Given the description of an element on the screen output the (x, y) to click on. 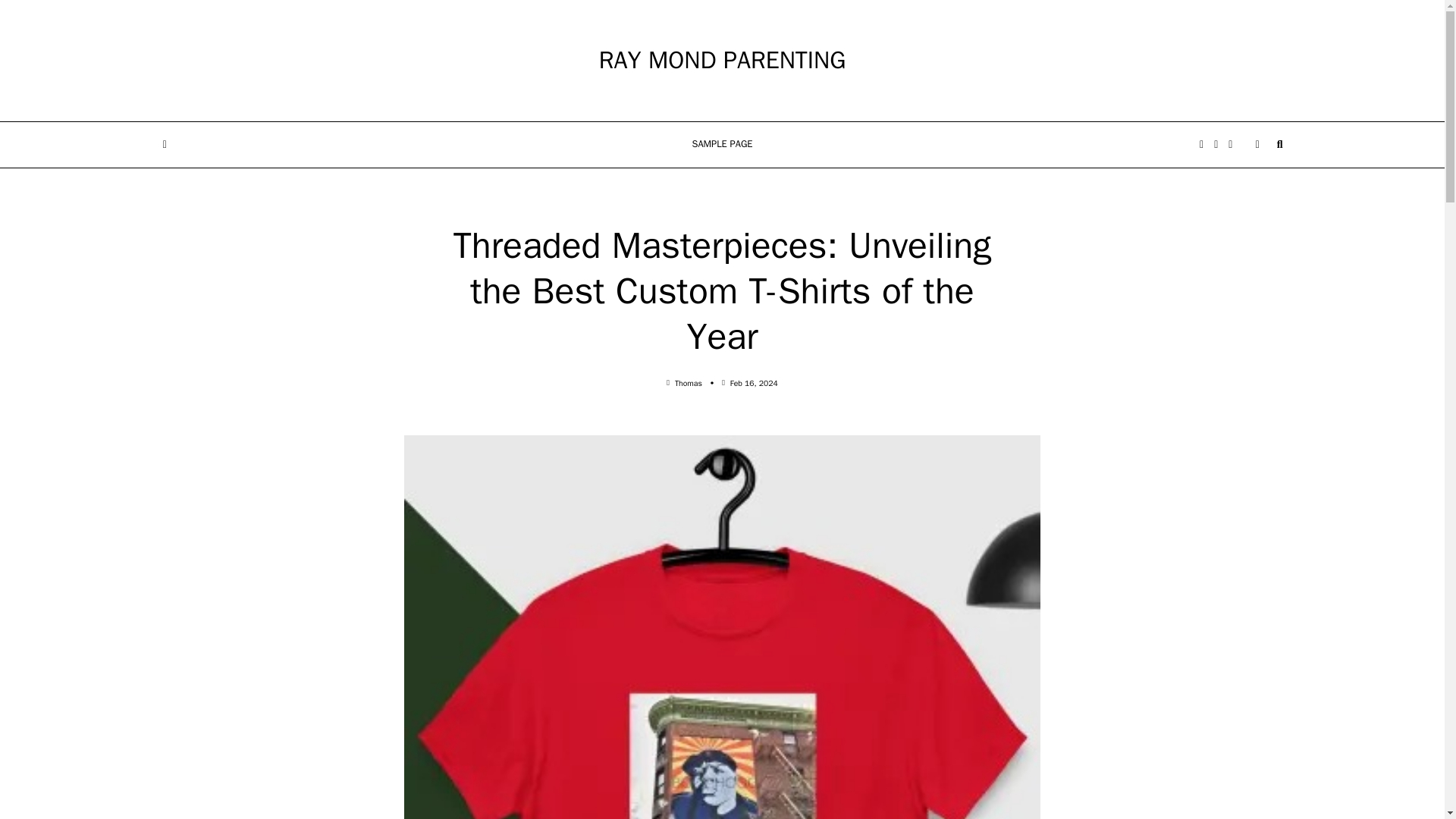
RAY MOND PARENTING (721, 60)
Feb 16, 2024 (753, 383)
Thomas (688, 383)
SAMPLE PAGE (721, 144)
